Given the description of an element on the screen output the (x, y) to click on. 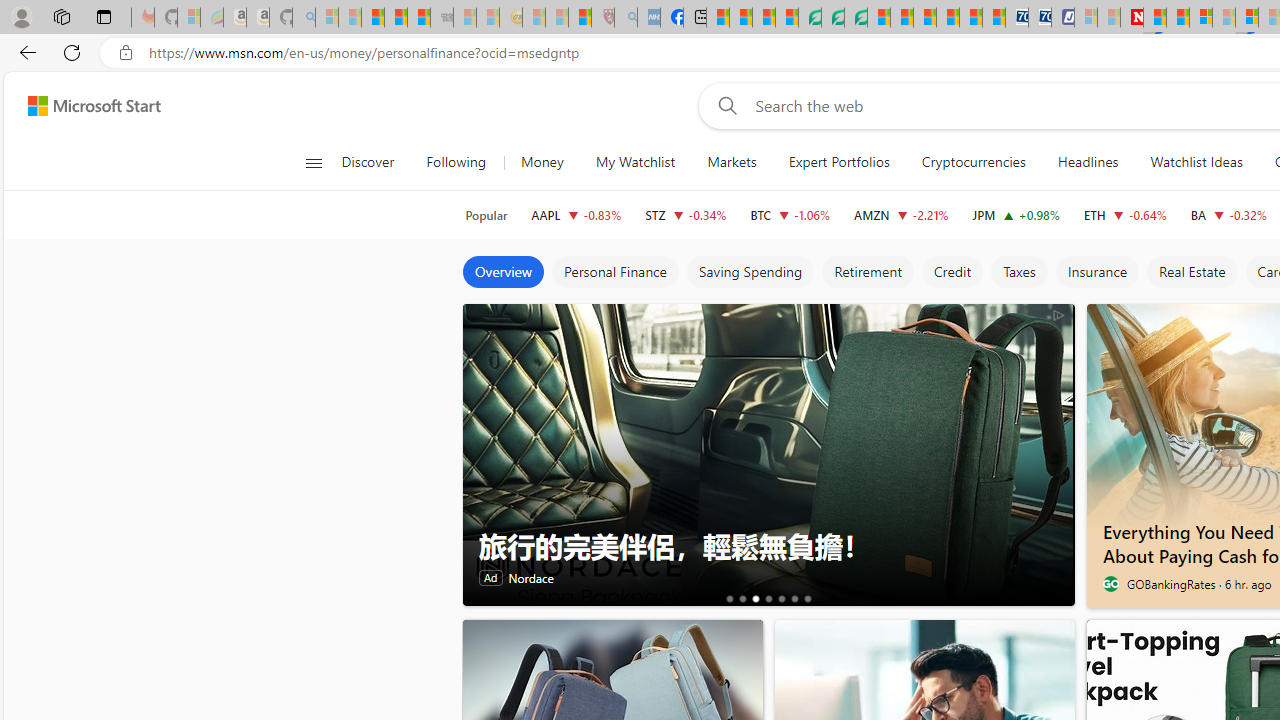
Cryptocurrencies (972, 162)
Headlines (1087, 162)
AMZN AMAZON.COM, INC. decrease 176.13 -3.98 -2.21% (901, 214)
Watchlist Ideas (1195, 162)
My Watchlist (635, 162)
